Given the description of an element on the screen output the (x, y) to click on. 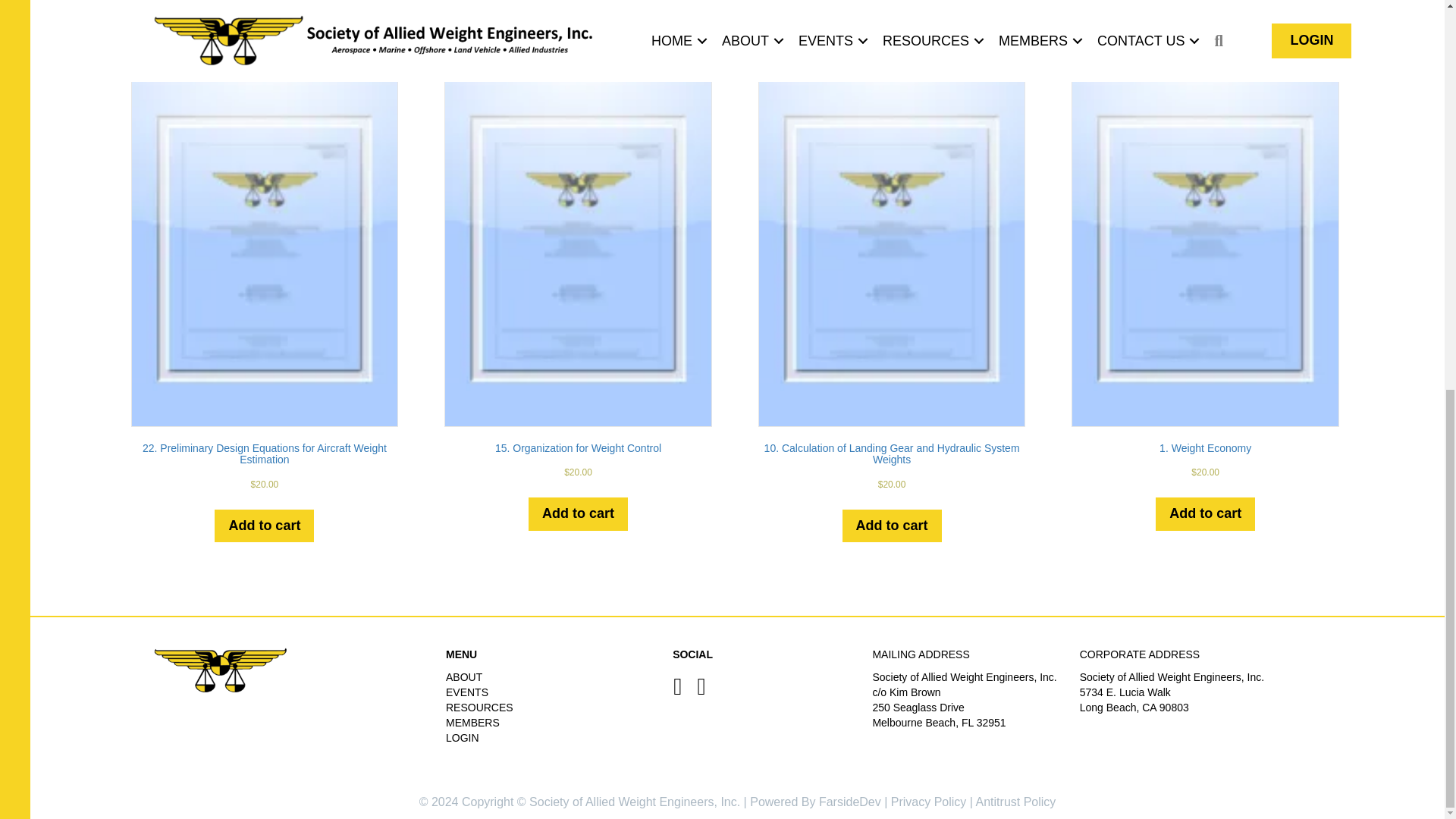
Technical Paper (422, 8)
